Given the description of an element on the screen output the (x, y) to click on. 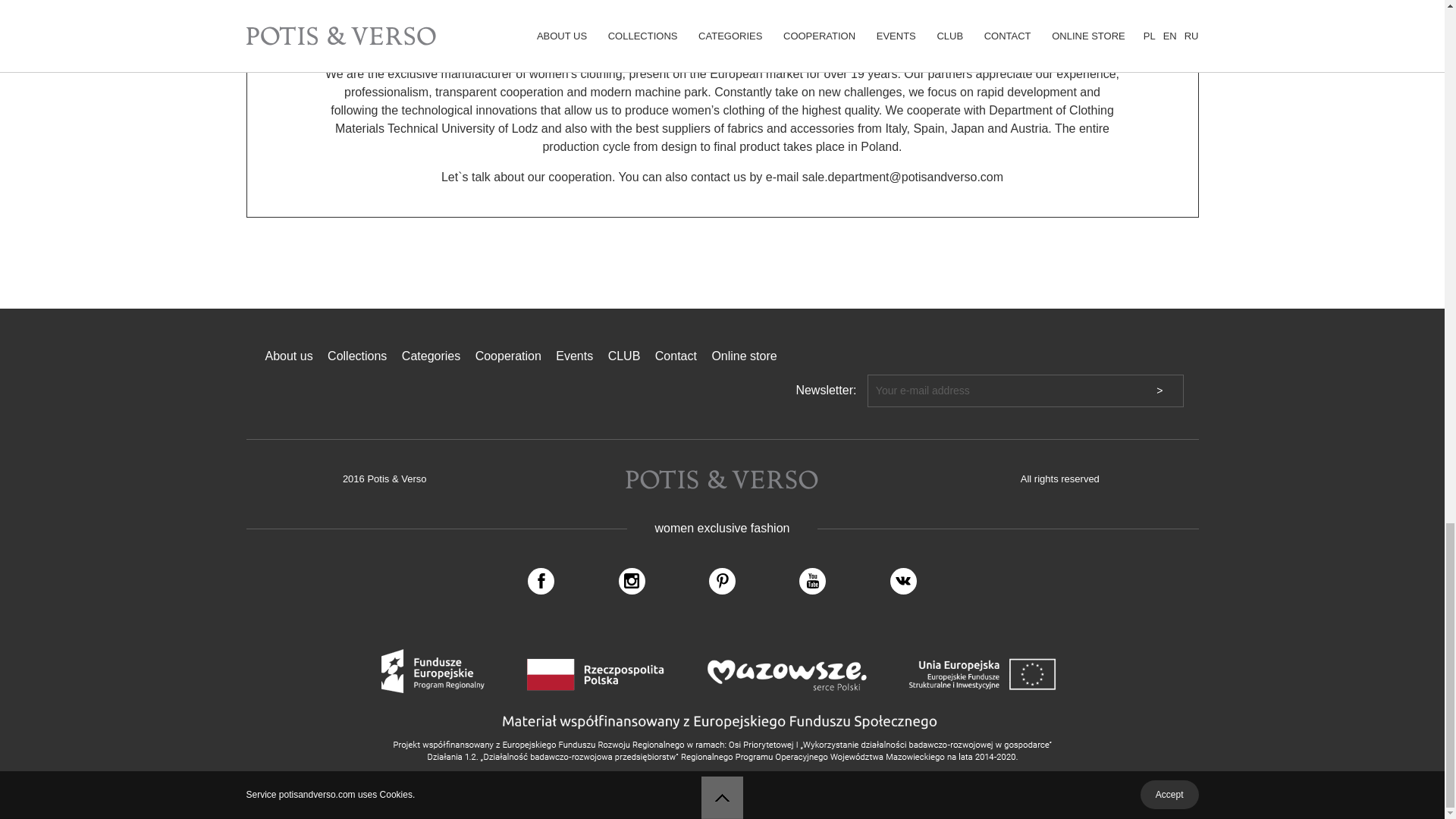
Categories (430, 355)
send (721, 20)
Online store (743, 355)
Cooperation (508, 355)
Contact (676, 355)
CLUB (624, 355)
About us (288, 355)
Collections (357, 355)
Events (574, 355)
